Given the description of an element on the screen output the (x, y) to click on. 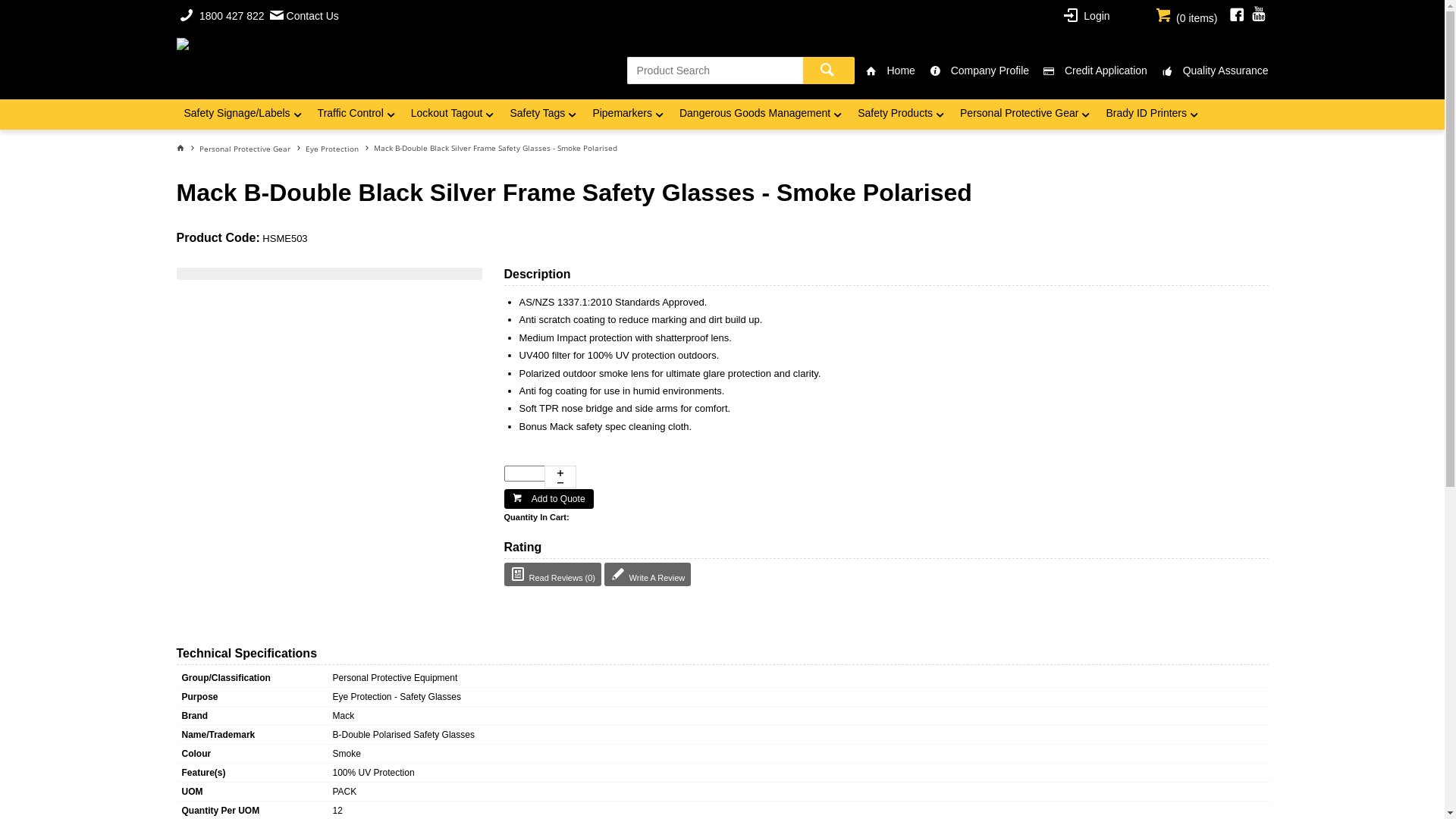
Safety Signage/Labels Element type: text (242, 114)
Contact Us Element type: text (303, 15)
Personal Protective Gear Element type: text (1025, 114)
Home Element type: text (884, 70)
Credit Application Element type: text (1089, 70)
Company Profile Element type: text (973, 70)
Safety Tags Element type: text (543, 114)
Traffic Control Element type: text (356, 114)
Add to Quote Element type: text (548, 498)
Facebook Element type: hover (1236, 15)
(0 items) Element type: text (1186, 15)
Quality Assurance Element type: text (1209, 70)
YouTube Element type: hover (1258, 15)
Safety Products Element type: text (901, 114)
1800 427 822 Element type: text (220, 15)
Personal Protective Gear Element type: text (251, 148)
Login Element type: text (1086, 15)
Lockout Tagout Element type: text (452, 114)
Pipemarkers Element type: text (627, 114)
Dangerous Goods Management Element type: text (760, 114)
Brady ID Printers Element type: text (1152, 114)
Eye Protection Element type: text (338, 148)
